Given the description of an element on the screen output the (x, y) to click on. 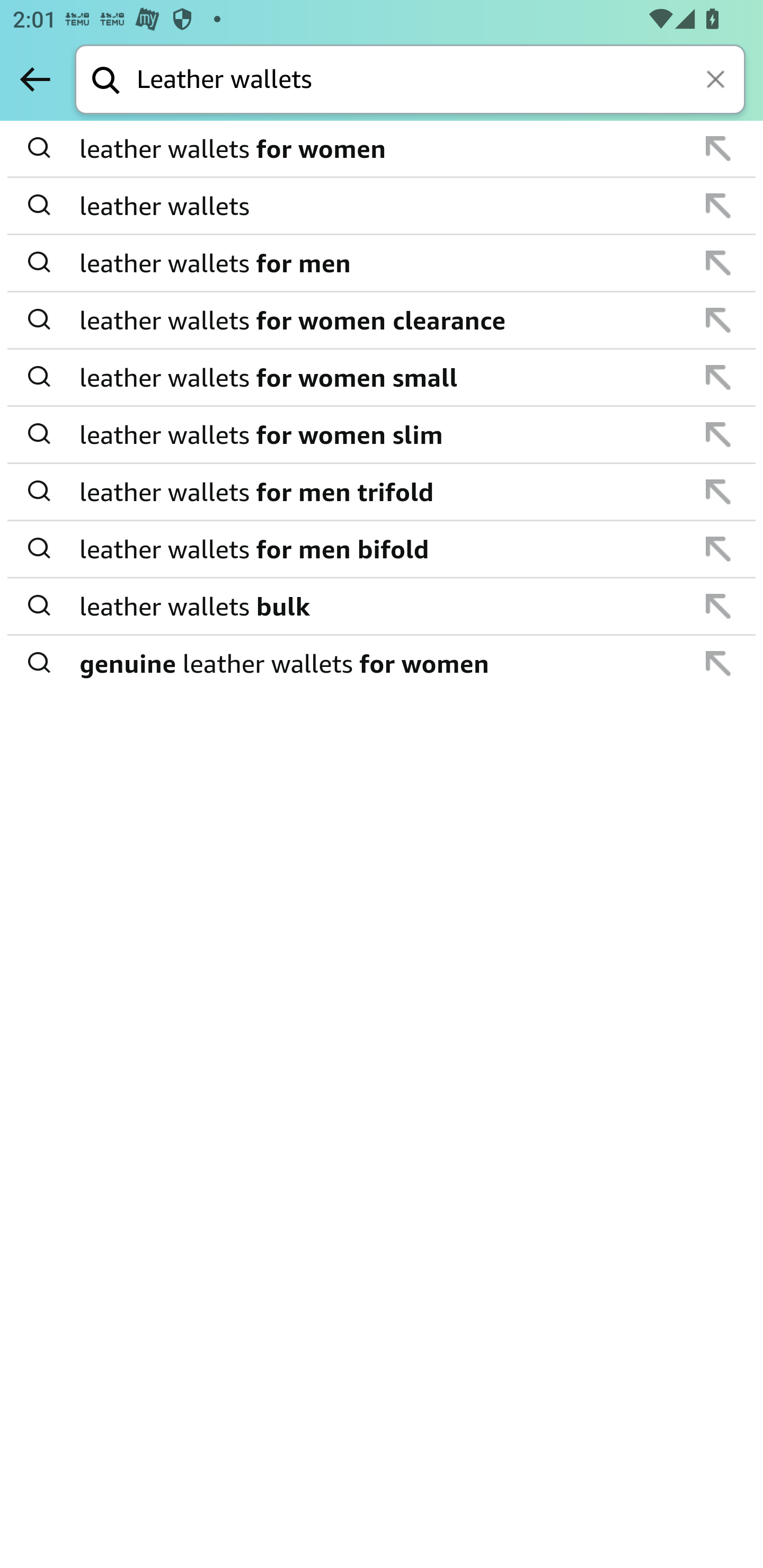
Leather wallets (440, 80)
Clear search keywords (717, 80)
Back (35, 78)
append suggestion leather wallets for women (381, 149)
leather wallets for women (382, 149)
append suggestion (718, 147)
leather wallets (382, 205)
append suggestion leather wallets (381, 206)
append suggestion (718, 205)
leather wallets for men (382, 262)
append suggestion leather wallets for men (381, 263)
append suggestion (718, 262)
leather wallets for women clearance (382, 319)
append suggestion (718, 319)
leather wallets for women small (382, 377)
append suggestion leather wallets for women small (381, 377)
append suggestion (718, 376)
leather wallets for women slim (382, 434)
append suggestion leather wallets for women slim (381, 435)
append suggestion (718, 434)
leather wallets for men trifold (382, 491)
append suggestion leather wallets for men trifold (381, 492)
append suggestion (718, 491)
leather wallets for men bifold (382, 548)
append suggestion leather wallets for men bifold (381, 549)
append suggestion (718, 548)
leather wallets bulk (382, 606)
append suggestion leather wallets bulk (381, 606)
append suggestion (718, 605)
genuine leather wallets for women (382, 662)
append suggestion (718, 663)
